Given the description of an element on the screen output the (x, y) to click on. 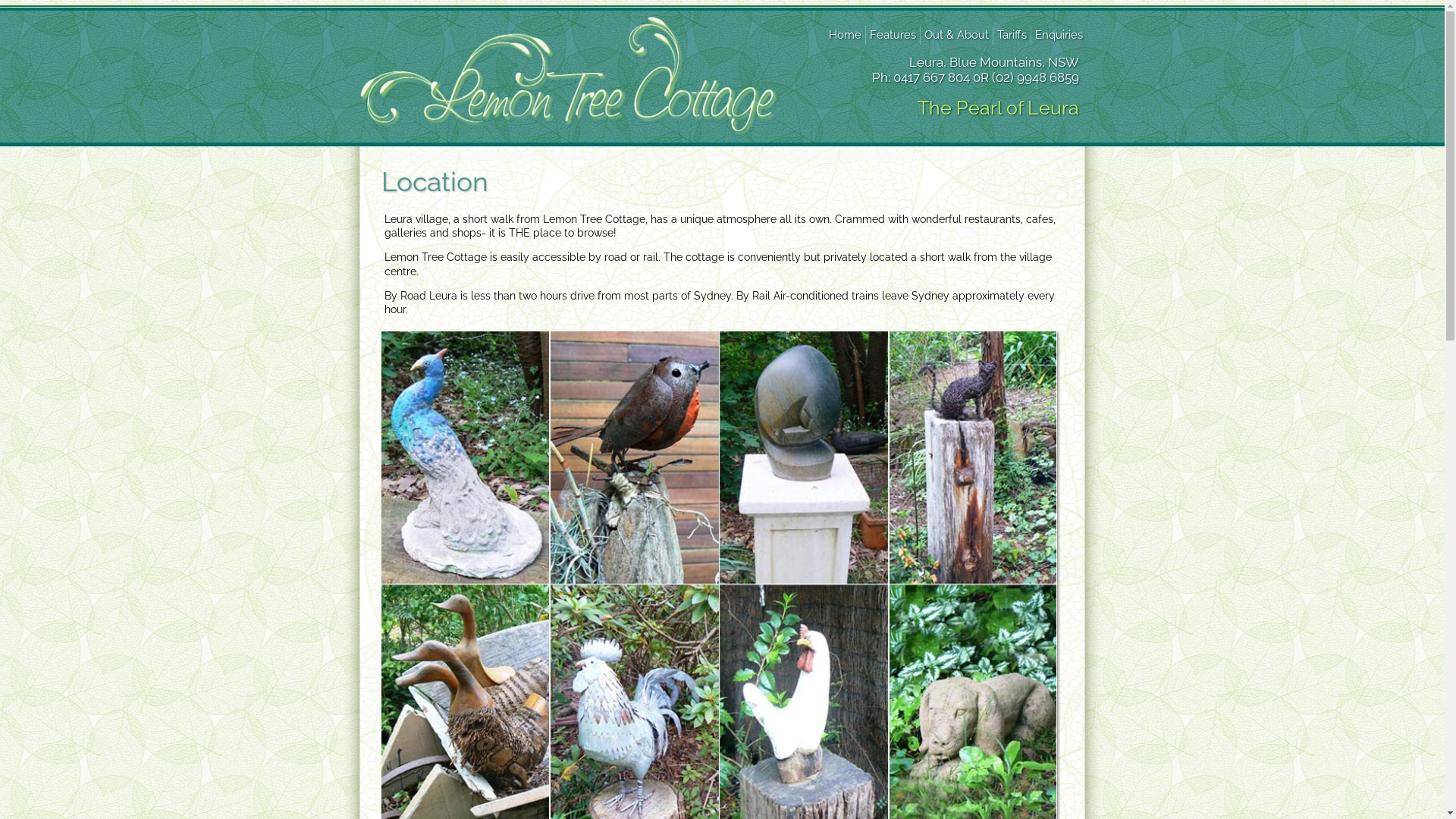
Enquiries Element type: text (1058, 34)
Home Element type: text (844, 34)
Out & About Element type: text (955, 34)
Tariffs Element type: text (1011, 34)
Features Element type: text (892, 34)
